Given the description of an element on the screen output the (x, y) to click on. 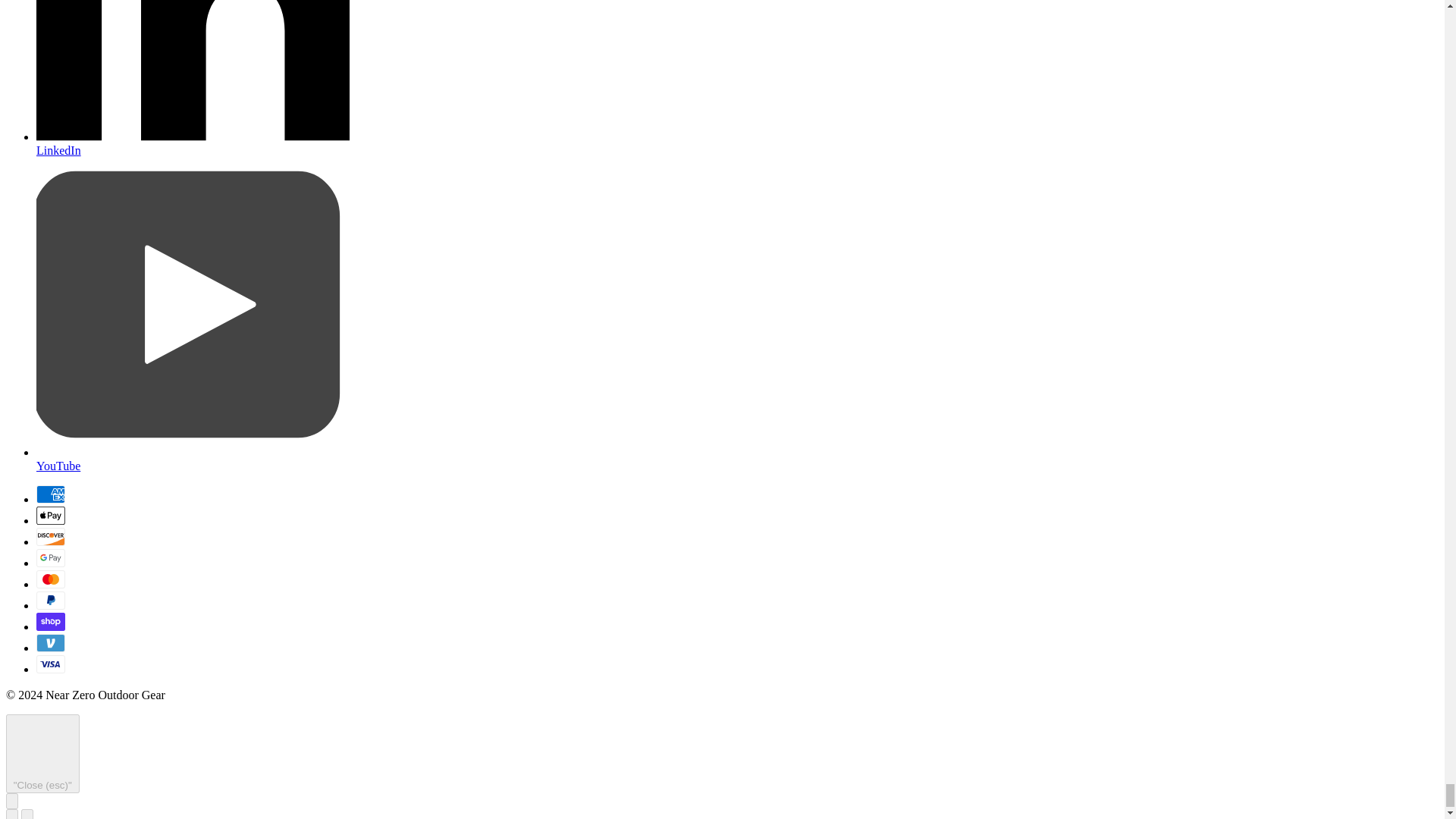
Apple Pay (50, 515)
PayPal (50, 599)
Google Pay (50, 556)
Mastercard (50, 578)
American Express (50, 493)
Discover (50, 536)
